Given the description of an element on the screen output the (x, y) to click on. 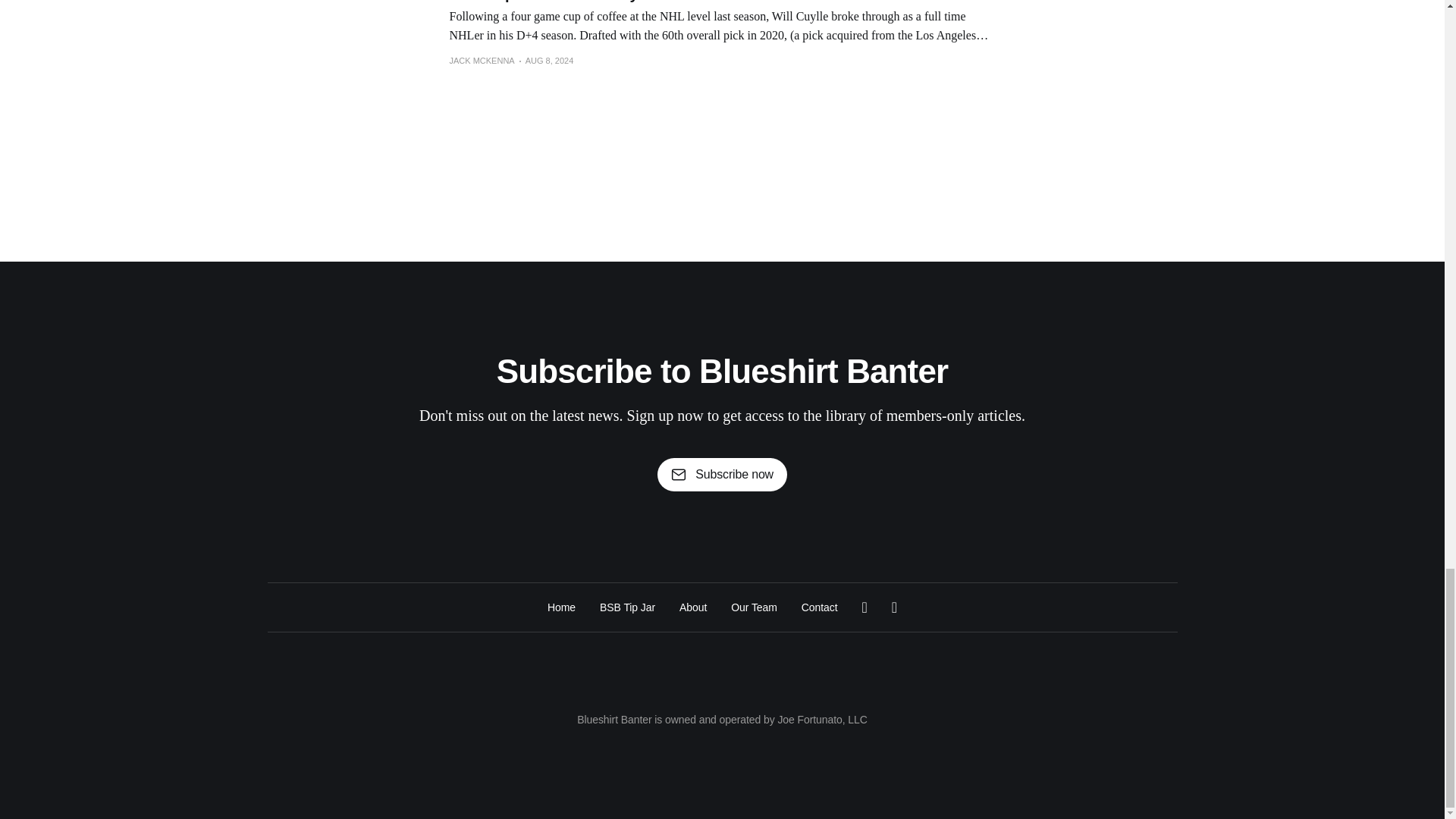
About (692, 606)
Our Team (753, 606)
Contact (820, 606)
Home (561, 606)
Subscribe now (722, 474)
BSB Tip Jar (627, 606)
